Given the description of an element on the screen output the (x, y) to click on. 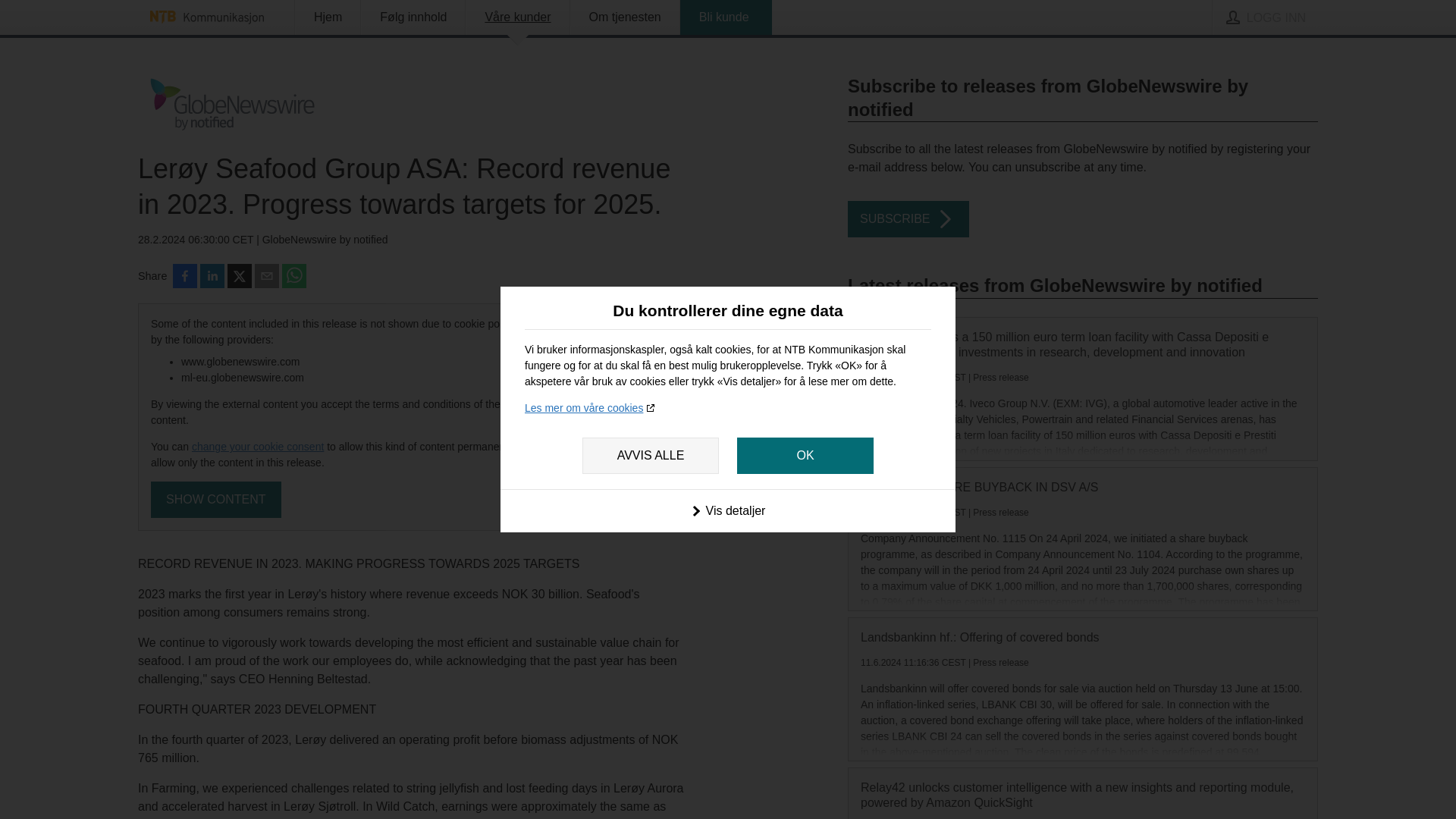
OK (804, 455)
AVVIS ALLE (650, 455)
Vis detaljer (727, 510)
